Given the description of an element on the screen output the (x, y) to click on. 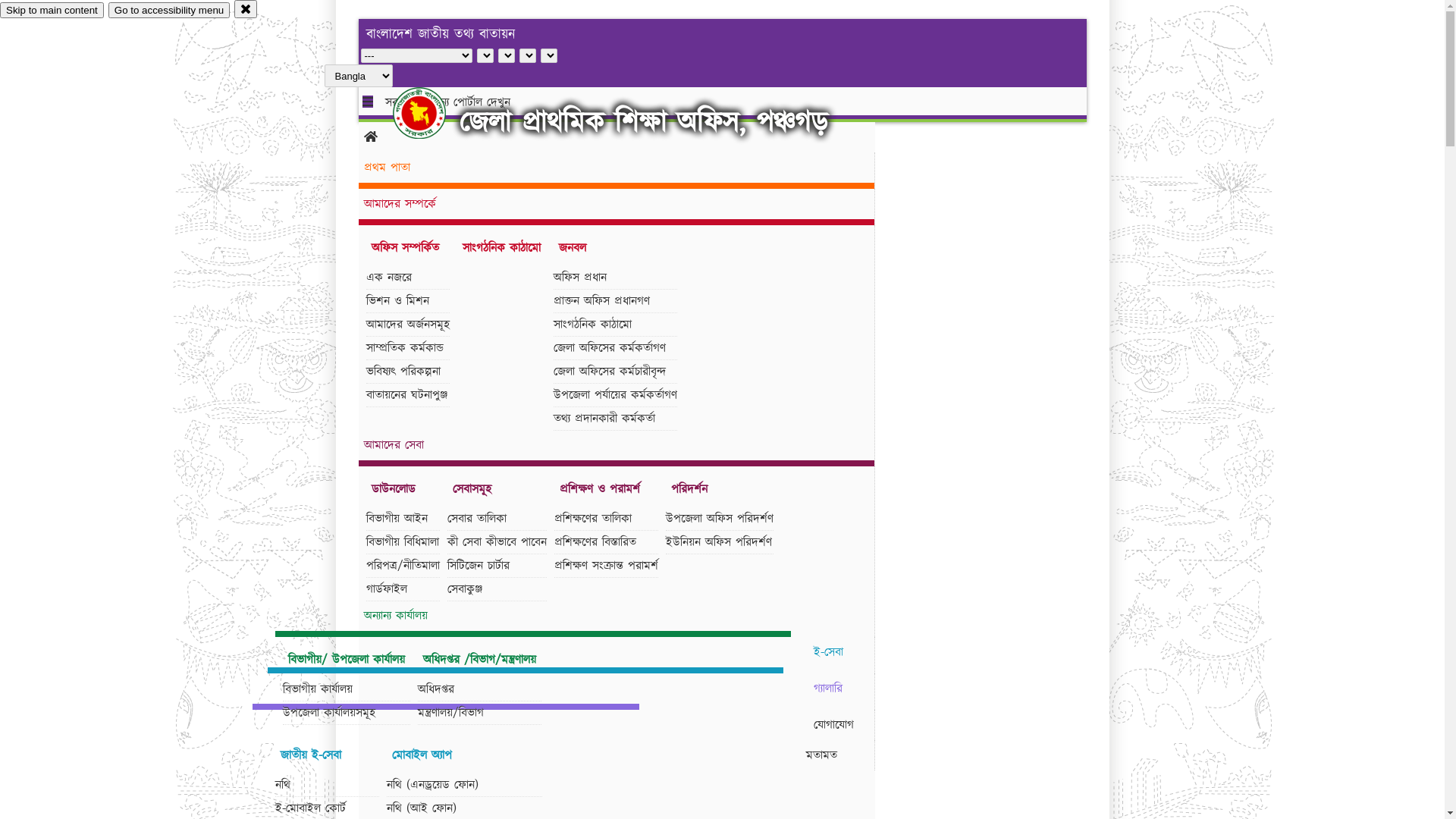
Skip to main content Element type: text (51, 10)
Go to accessibility menu Element type: text (168, 10)
close Element type: hover (245, 9)

                
             Element type: hover (431, 112)
